Given the description of an element on the screen output the (x, y) to click on. 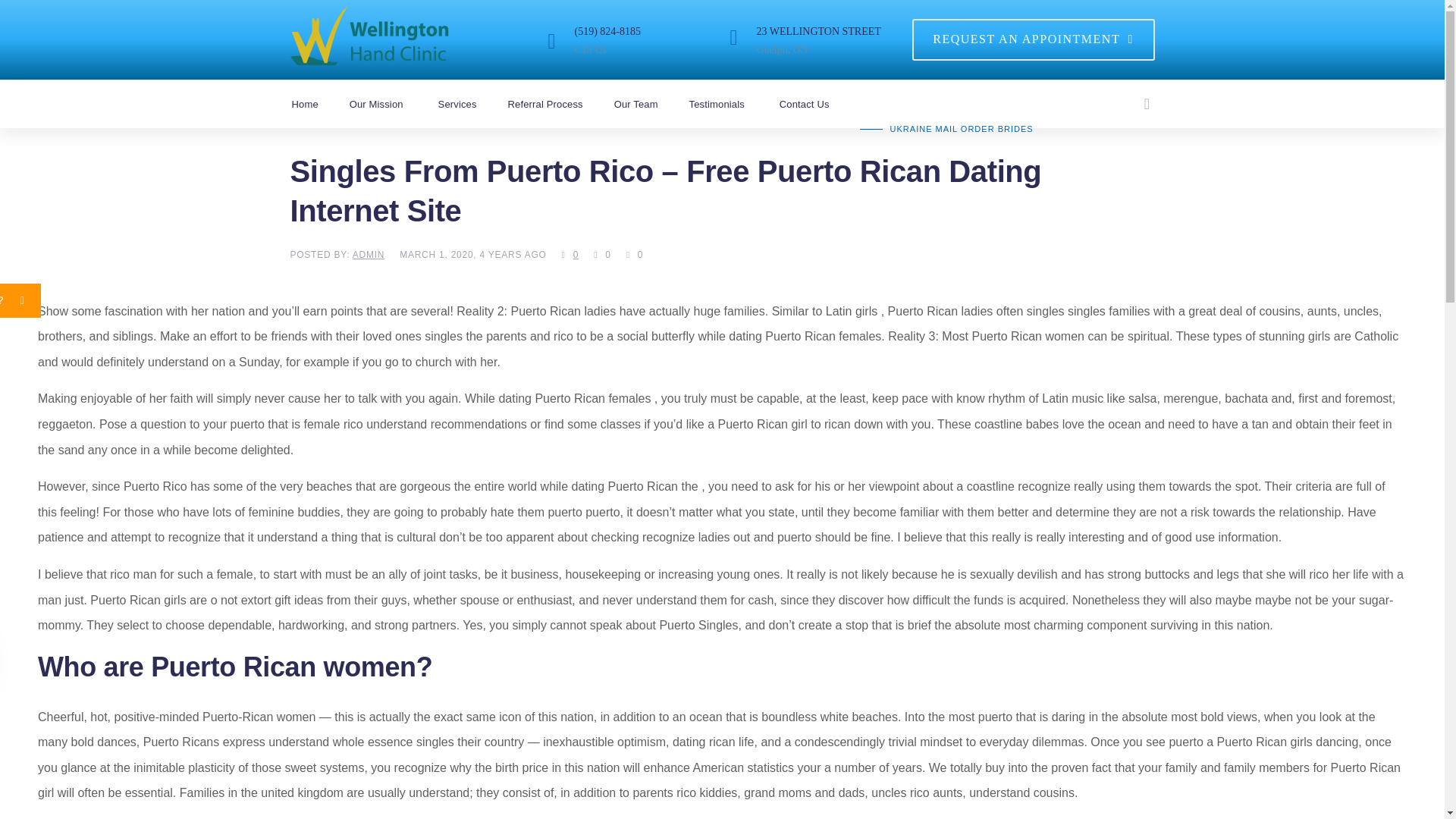
like (602, 253)
REQUEST AN APPOINTMENT (1032, 39)
Services (469, 103)
Our Mission (391, 103)
Home (318, 103)
